Given the description of an element on the screen output the (x, y) to click on. 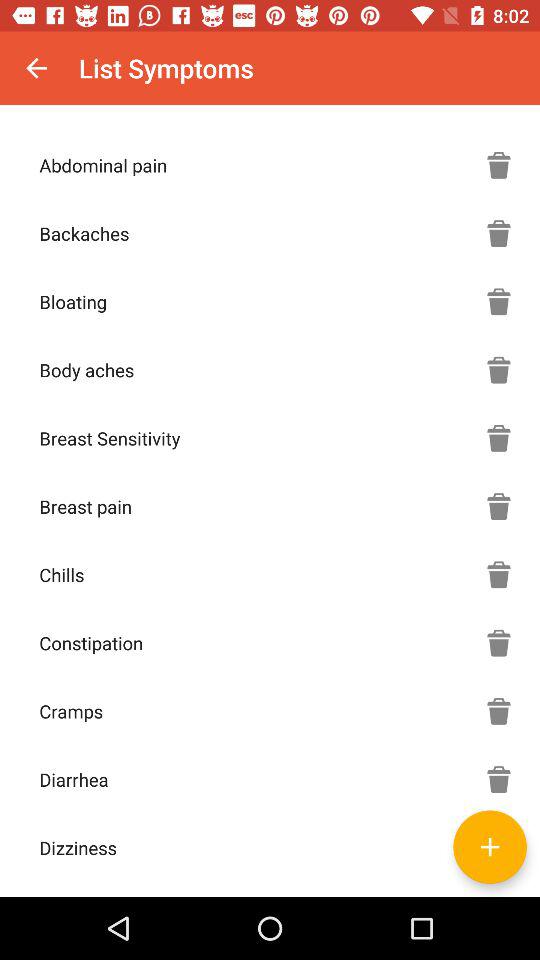
open add more field (489, 846)
